Given the description of an element on the screen output the (x, y) to click on. 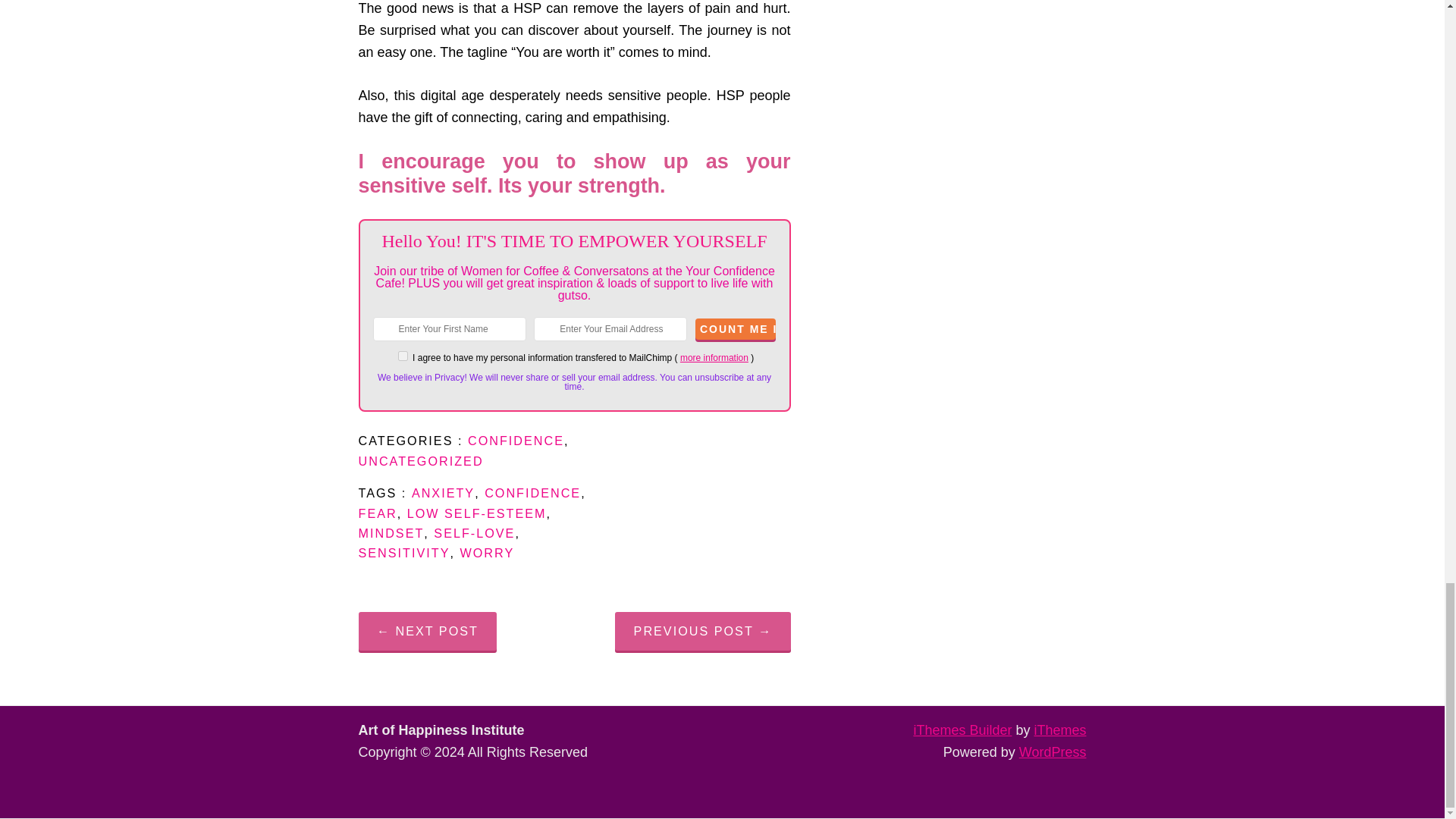
iThemes WordPress Themes (1059, 729)
UNCATEGORIZED (420, 460)
MINDSET (390, 532)
ANXIETY (443, 492)
SELF-LOVE (474, 532)
SENSITIVITY (403, 552)
more information (713, 357)
iThemes Builder (961, 729)
COUNT ME IN. YAY! (735, 328)
LOW SELF-ESTEEM (477, 513)
CONFIDENCE (532, 492)
CONFIDENCE (515, 440)
WORRY (486, 552)
FEAR (377, 513)
COUNT ME IN. YAY! (735, 328)
